Given the description of an element on the screen output the (x, y) to click on. 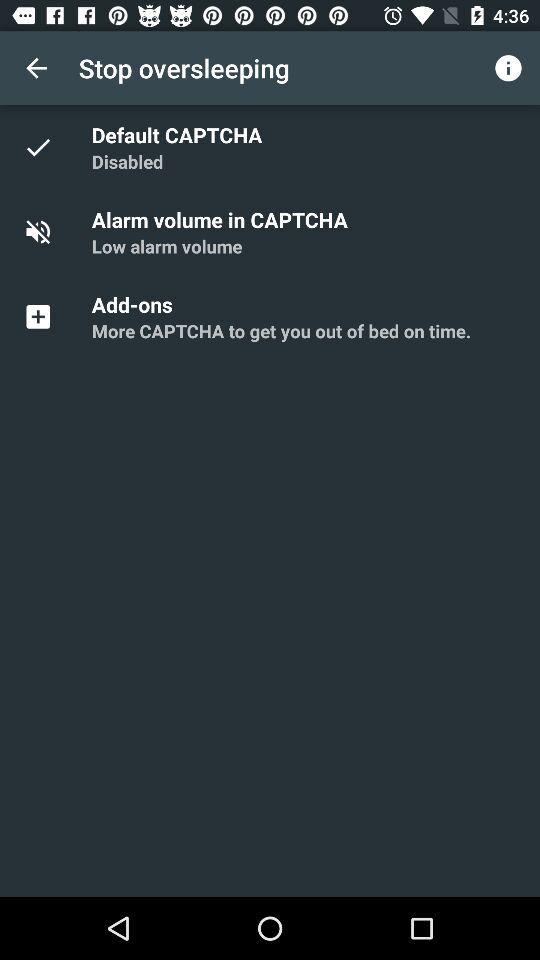
tap the more captcha to icon (281, 330)
